Given the description of an element on the screen output the (x, y) to click on. 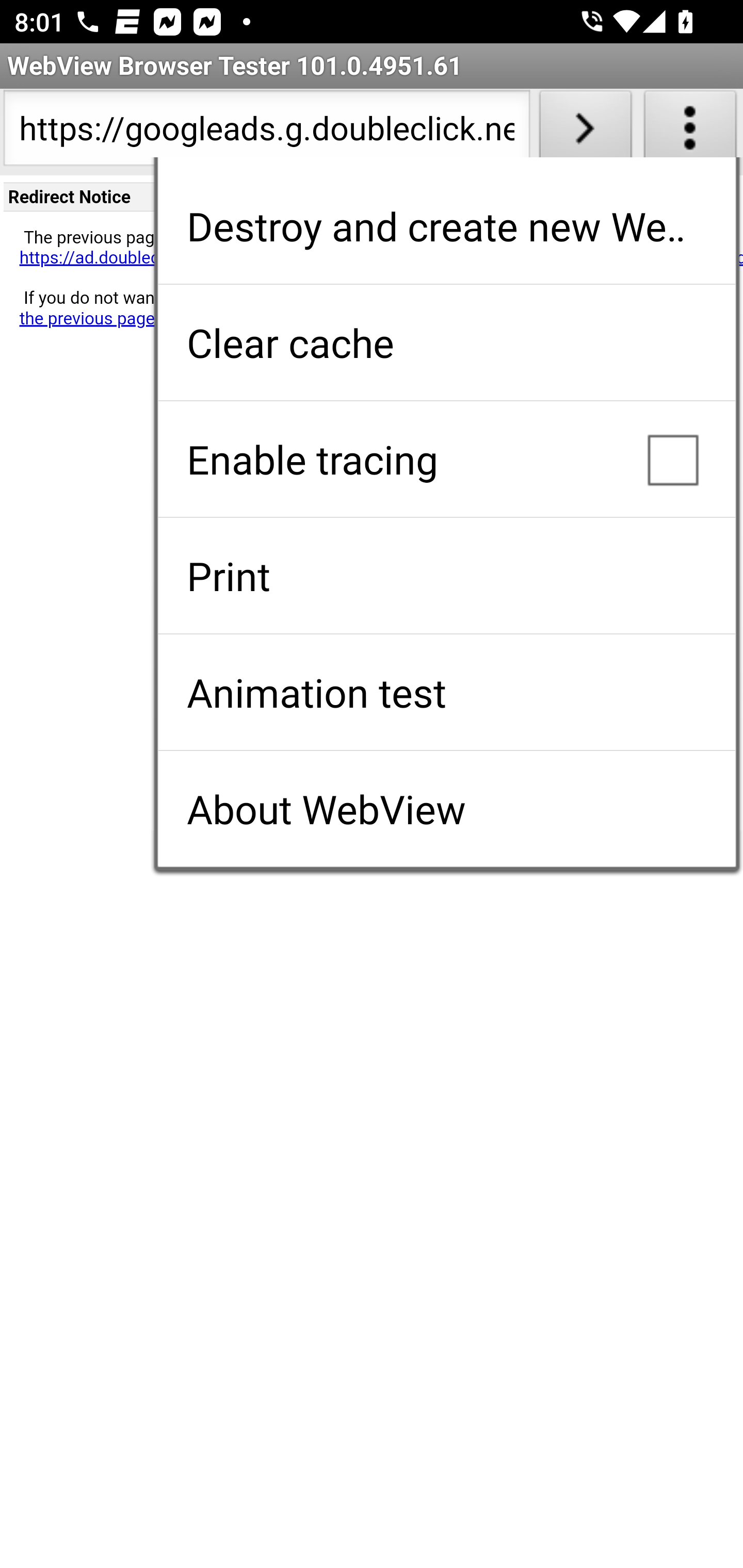
Destroy and create new WebView (446, 225)
Clear cache (446, 342)
Enable tracing (446, 459)
Print (446, 575)
Animation test (446, 692)
About WebView (446, 809)
